Given the description of an element on the screen output the (x, y) to click on. 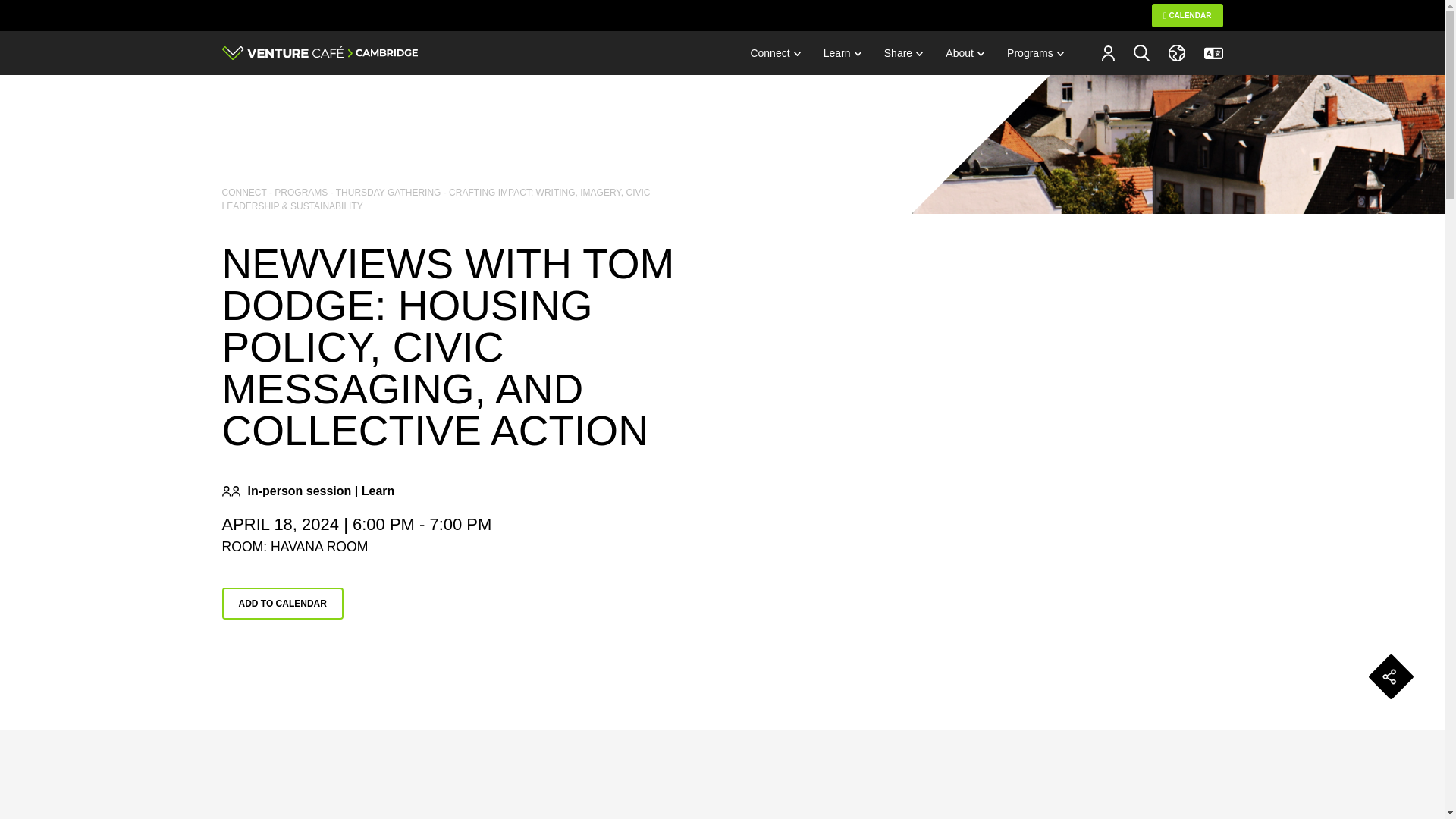
CALENDAR (1187, 15)
Search (1141, 52)
Programs (1035, 53)
Share (903, 53)
Connect (774, 53)
